Given the description of an element on the screen output the (x, y) to click on. 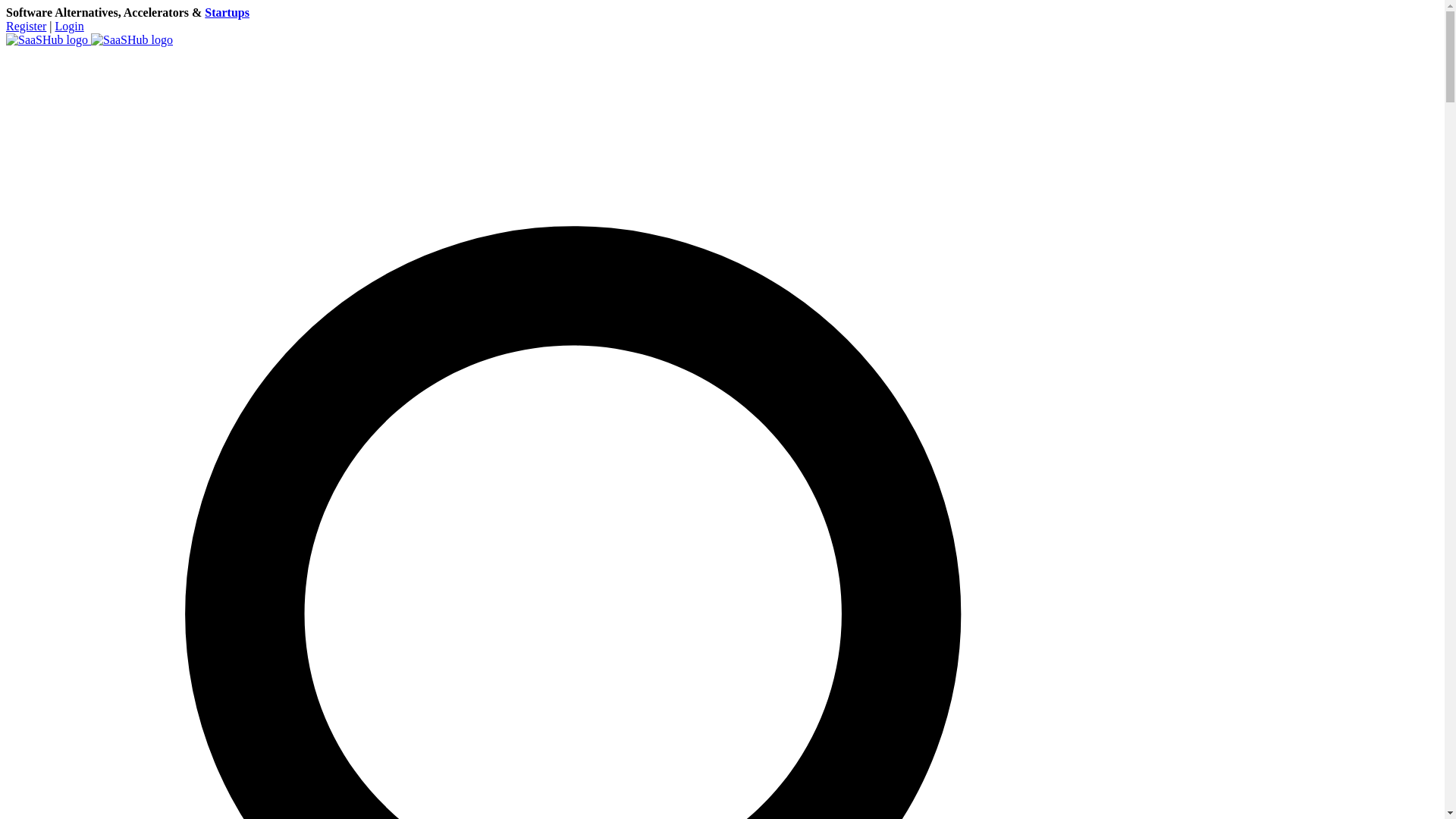
Login (69, 25)
Startups (226, 11)
Register (25, 25)
